Given the description of an element on the screen output the (x, y) to click on. 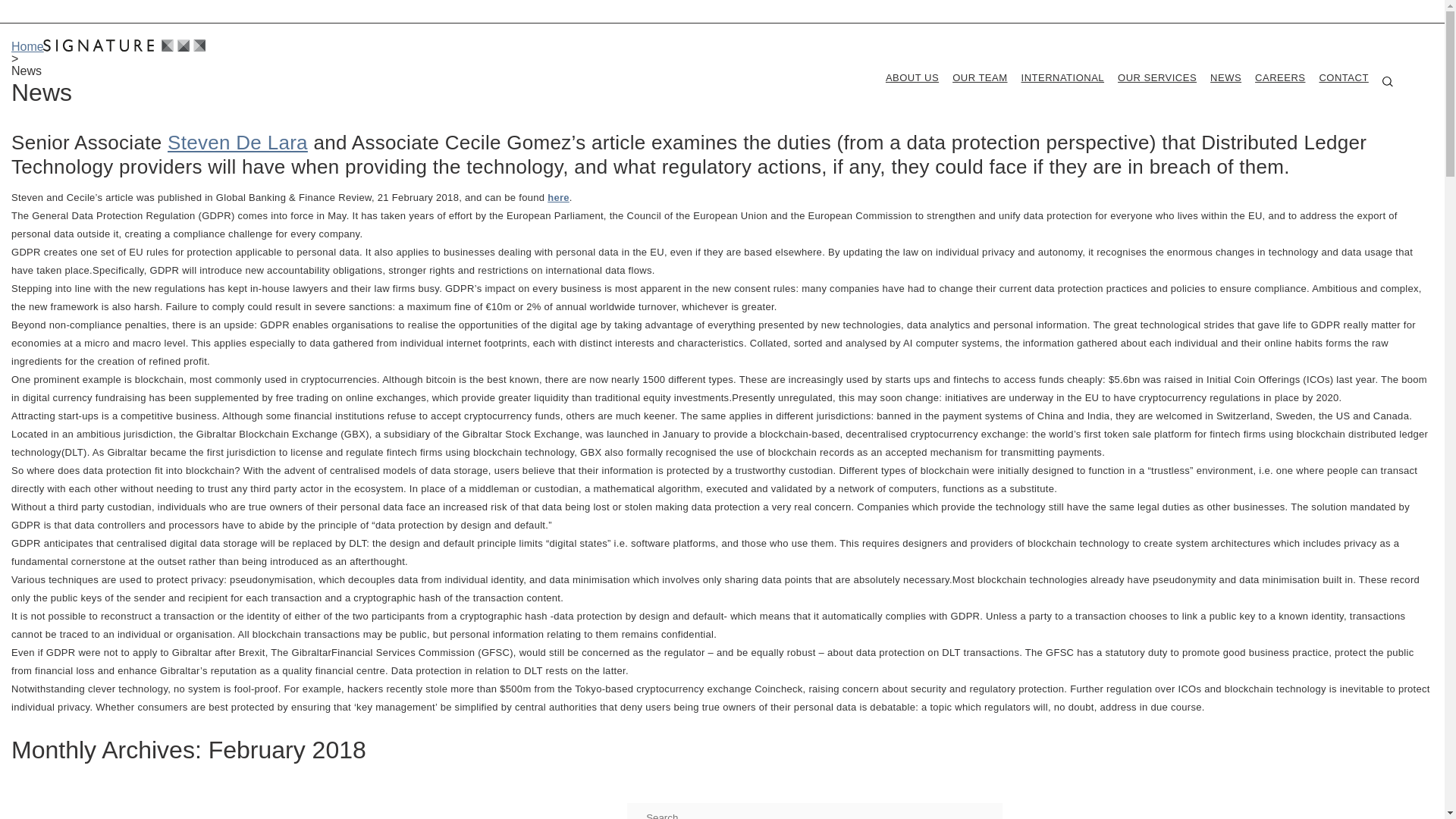
SEARCH (1387, 81)
Signature Litigation (124, 45)
OUR SERVICES (1157, 77)
Go (615, 813)
ABOUT US (912, 77)
INTERNATIONAL (1063, 77)
Signature Litigation (124, 45)
OUR TEAM (979, 77)
CAREERS (1279, 77)
NEWS (1225, 77)
Home (27, 46)
CONTACT (1343, 77)
